Given the description of an element on the screen output the (x, y) to click on. 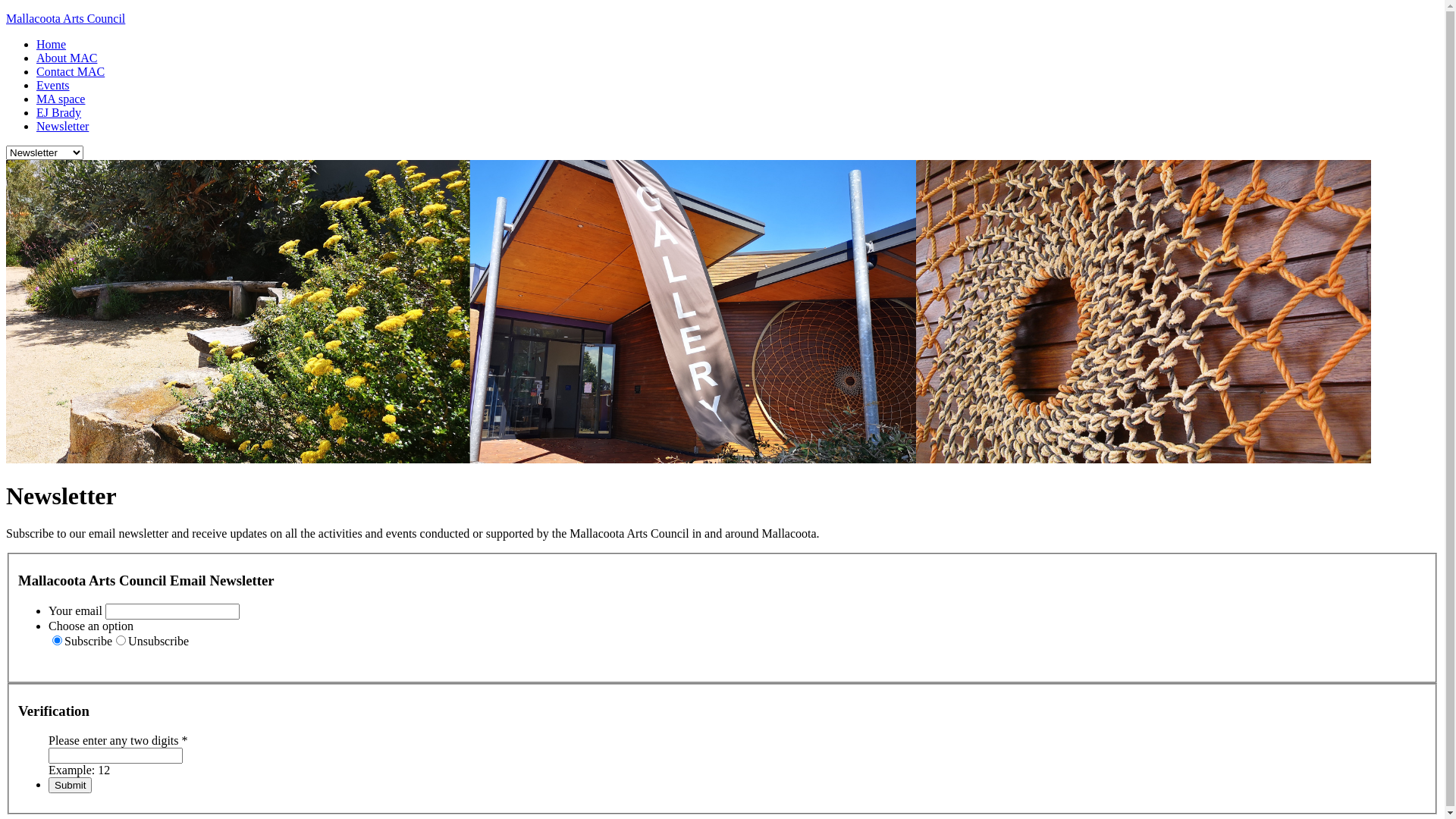
EJ Brady Element type: text (58, 112)
Submit Element type: text (69, 785)
Home Element type: text (50, 43)
Contact MAC Element type: text (70, 71)
Events Element type: text (52, 84)
Mallacoota Arts Council Element type: text (65, 18)
Newsletter Element type: text (62, 125)
About MAC Element type: text (66, 57)
MA space Element type: text (60, 98)
